Given the description of an element on the screen output the (x, y) to click on. 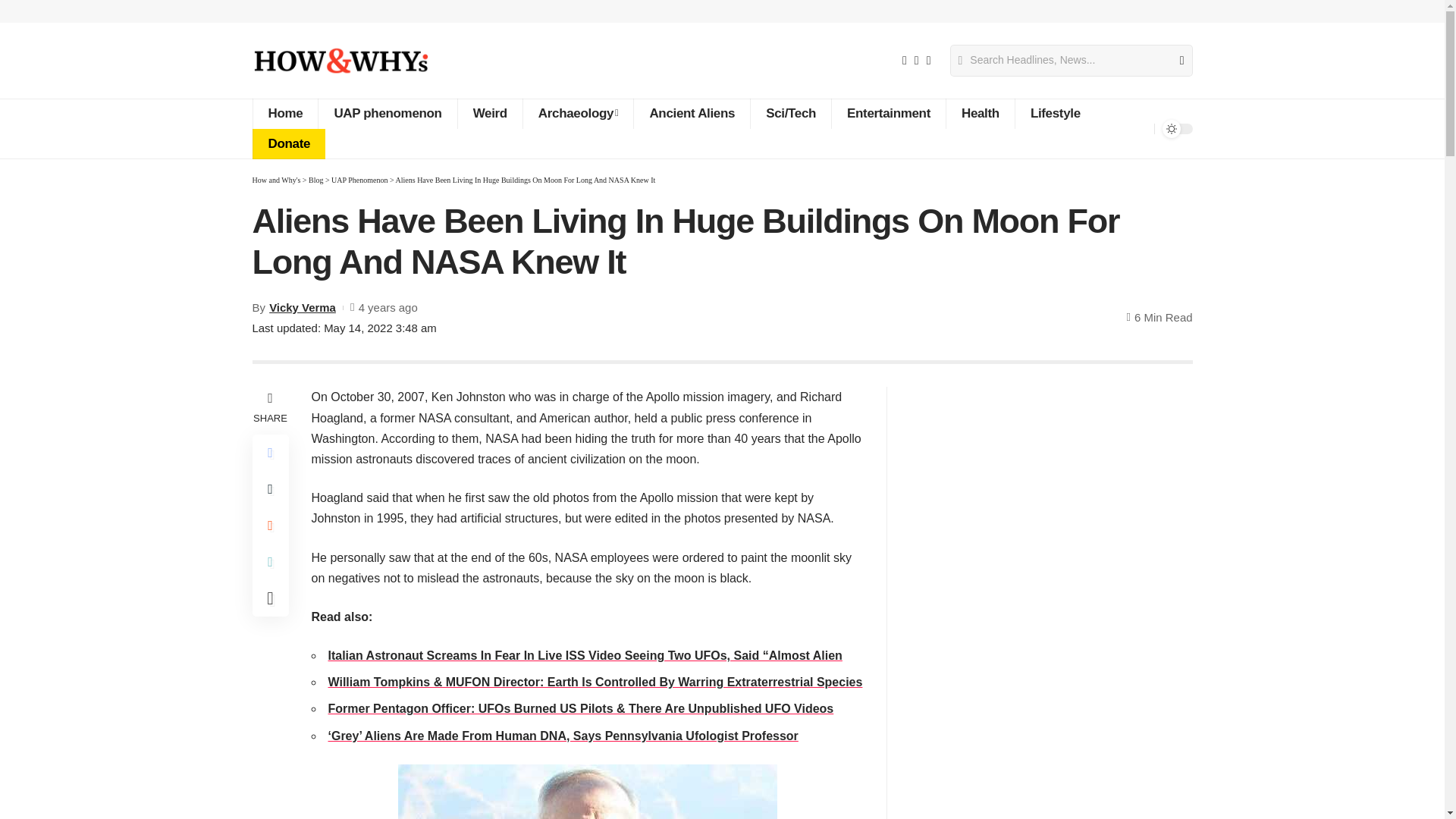
Blog (315, 180)
How and Why's (275, 180)
UAP phenomenon (387, 113)
How and Why's (339, 60)
Lifestyle (1055, 113)
Home (284, 113)
Weird (489, 113)
Entertainment (887, 113)
Ancient Aliens (691, 113)
Go to How and Why's. (275, 180)
Health (979, 113)
Search (1175, 60)
Go to Blog. (315, 180)
Go to the UAP Phenomenon Category archives. (359, 180)
Donate (287, 143)
